Given the description of an element on the screen output the (x, y) to click on. 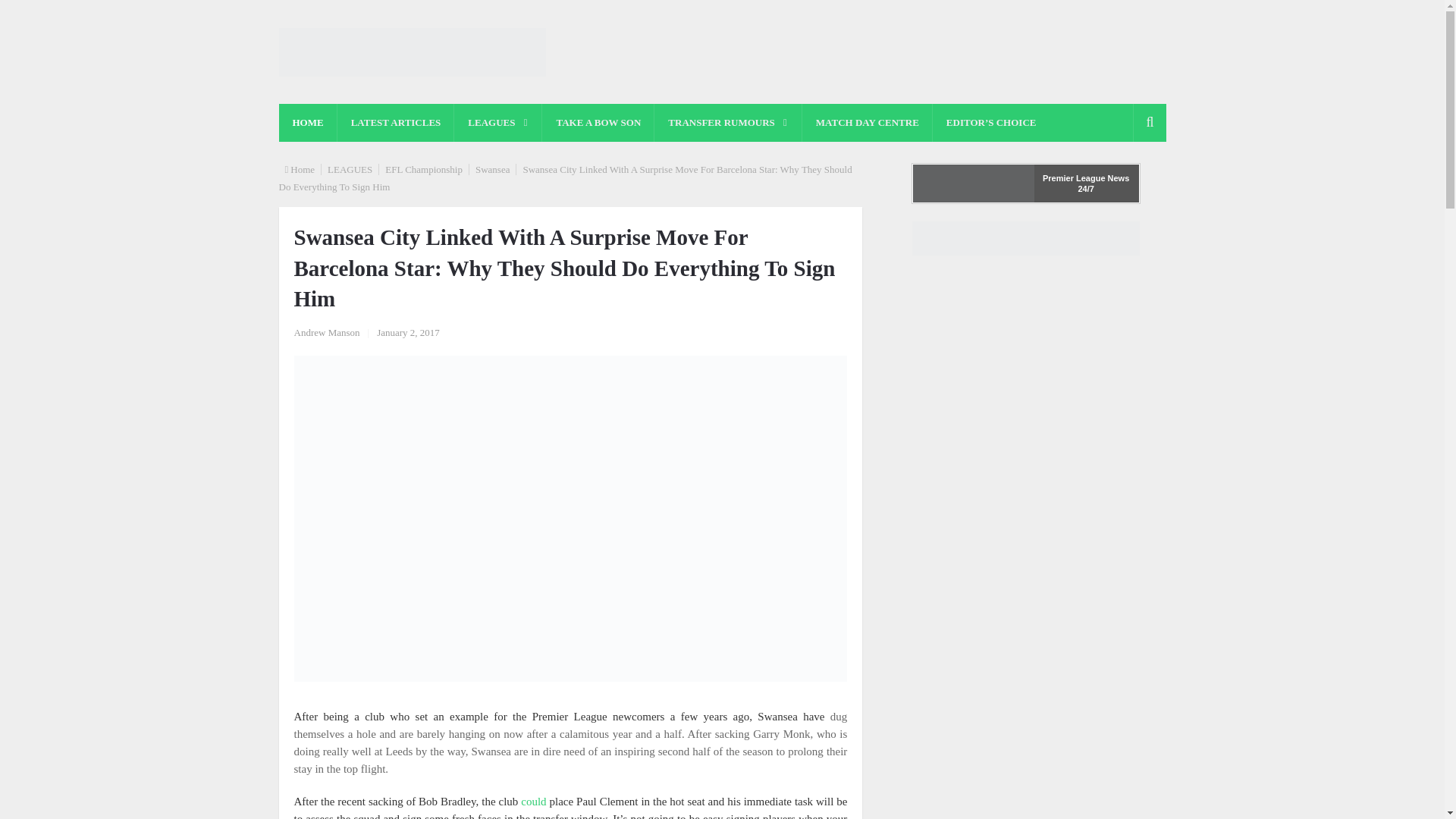
Posts by Andrew Manson (326, 332)
HOME (308, 122)
LATEST ARTICLES (395, 122)
LEAGUES (497, 122)
